Given the description of an element on the screen output the (x, y) to click on. 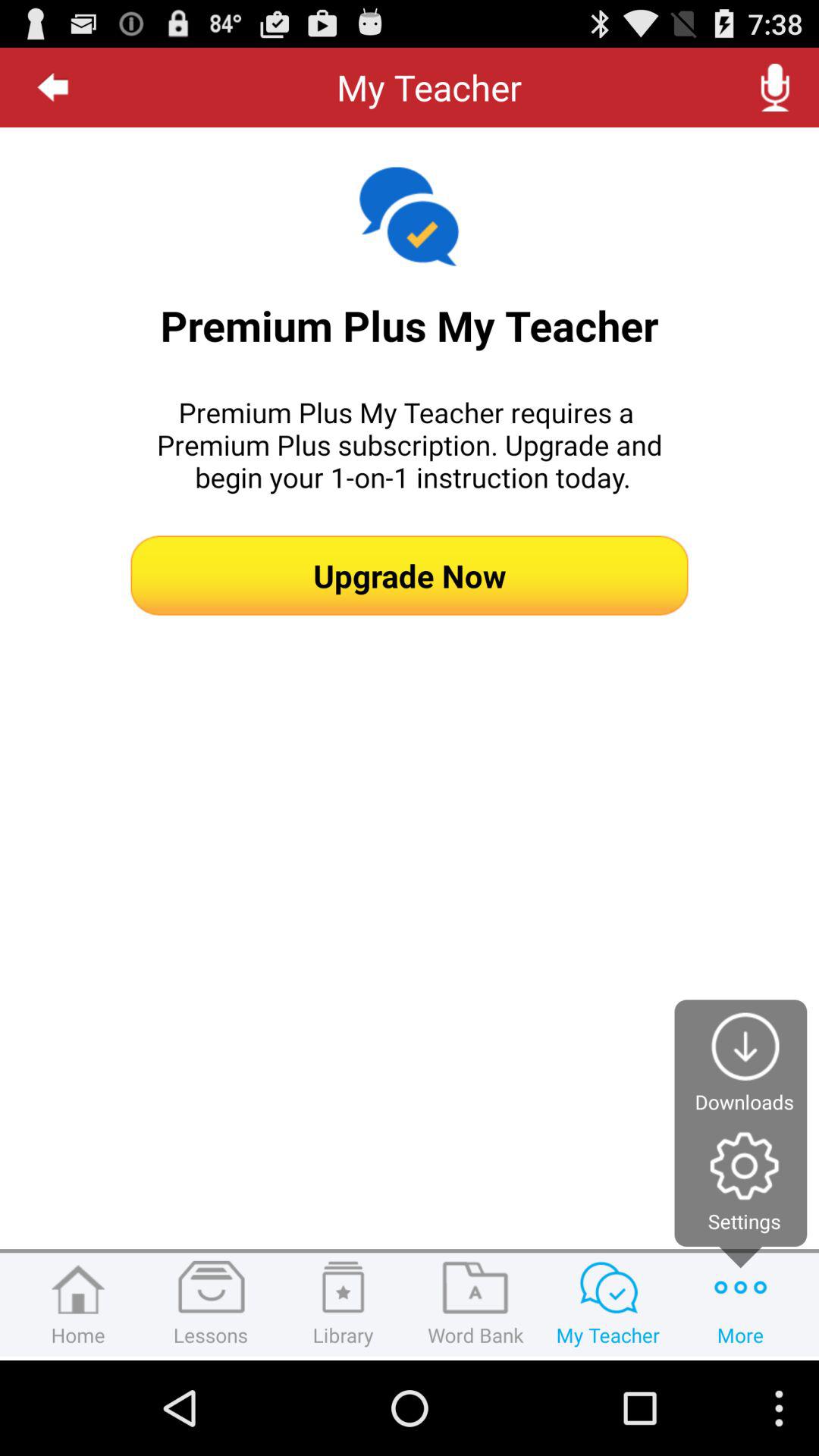
open the icon at the top left corner (53, 87)
